Given the description of an element on the screen output the (x, y) to click on. 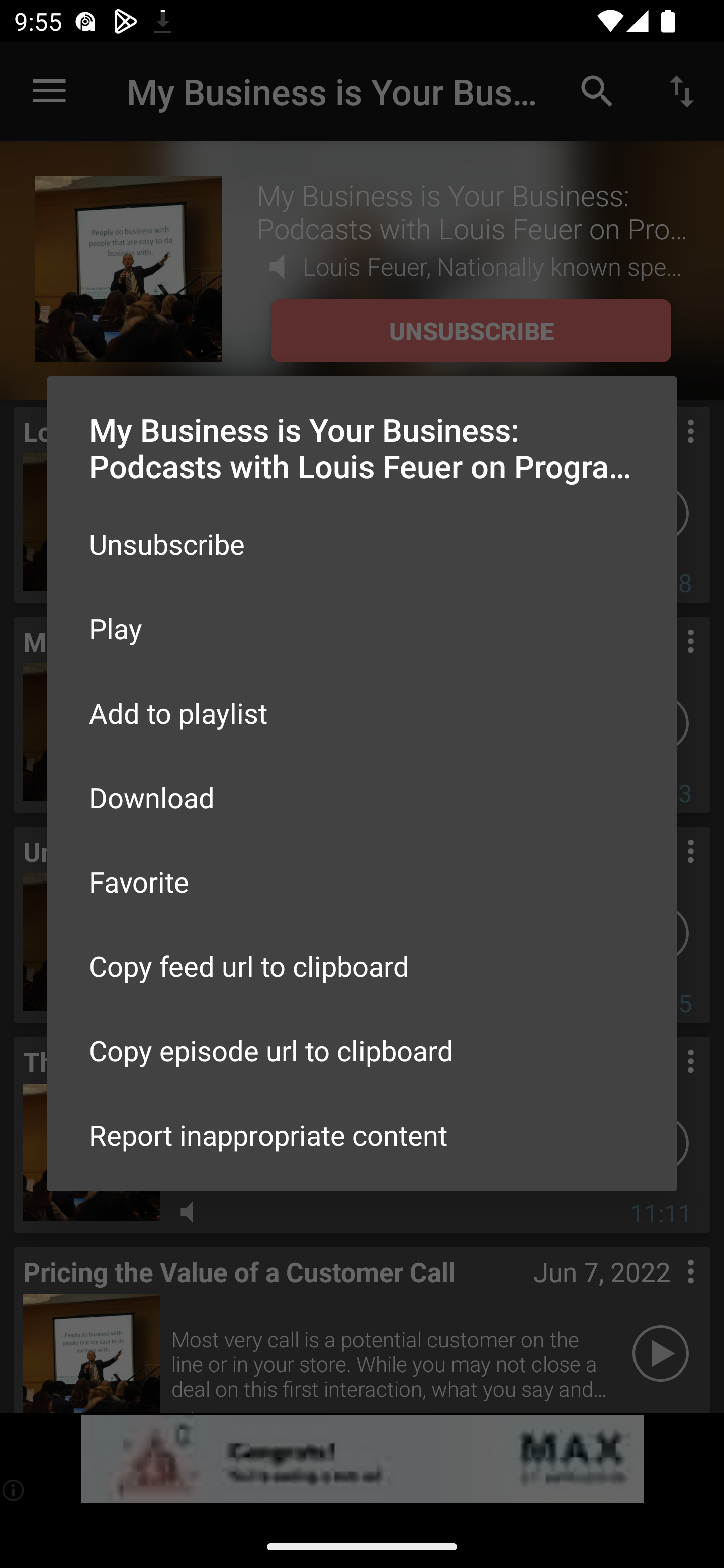
Unsubscribe (361, 543)
Play (361, 628)
Add to playlist (361, 712)
Download (361, 796)
Favorite (361, 880)
Copy feed url to clipboard (361, 965)
Copy episode url to clipboard (361, 1050)
Report inappropriate content (361, 1134)
